Given the description of an element on the screen output the (x, y) to click on. 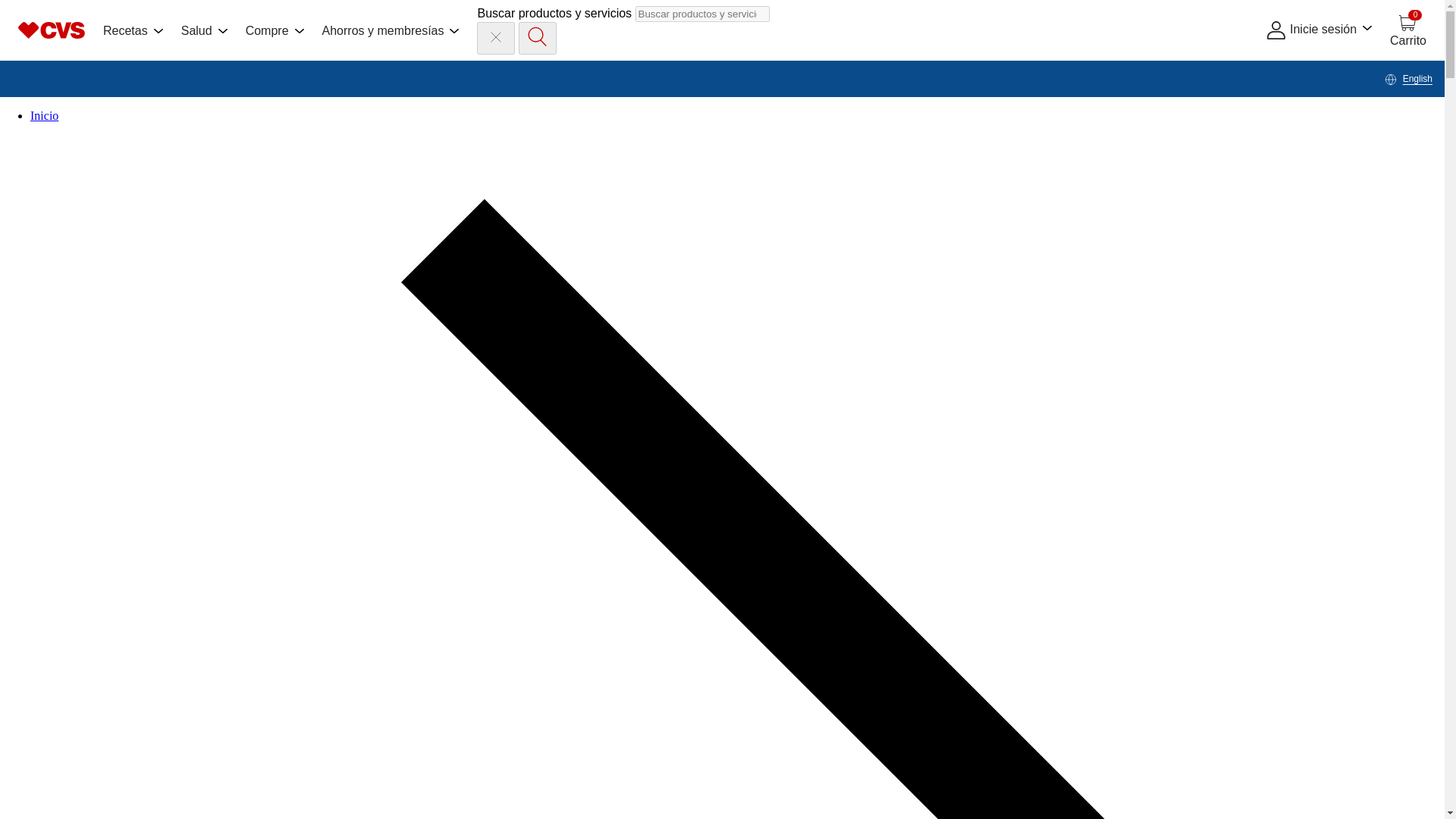
English (1408, 78)
Compre (275, 30)
Recetas (133, 30)
Salud (203, 30)
